Given the description of an element on the screen output the (x, y) to click on. 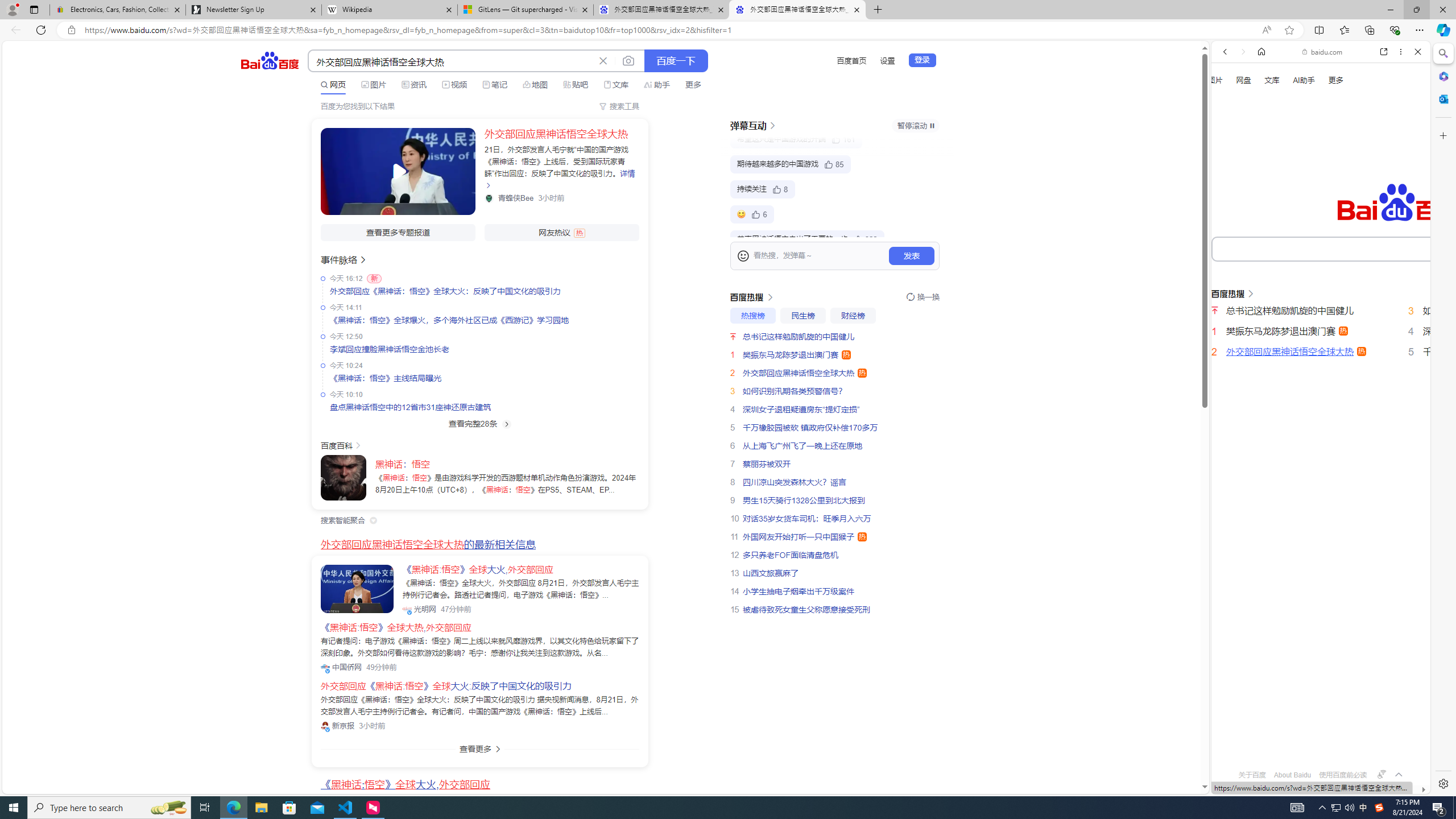
OF | English meaning - Cambridge Dictionary (1315, 238)
